Given the description of an element on the screen output the (x, y) to click on. 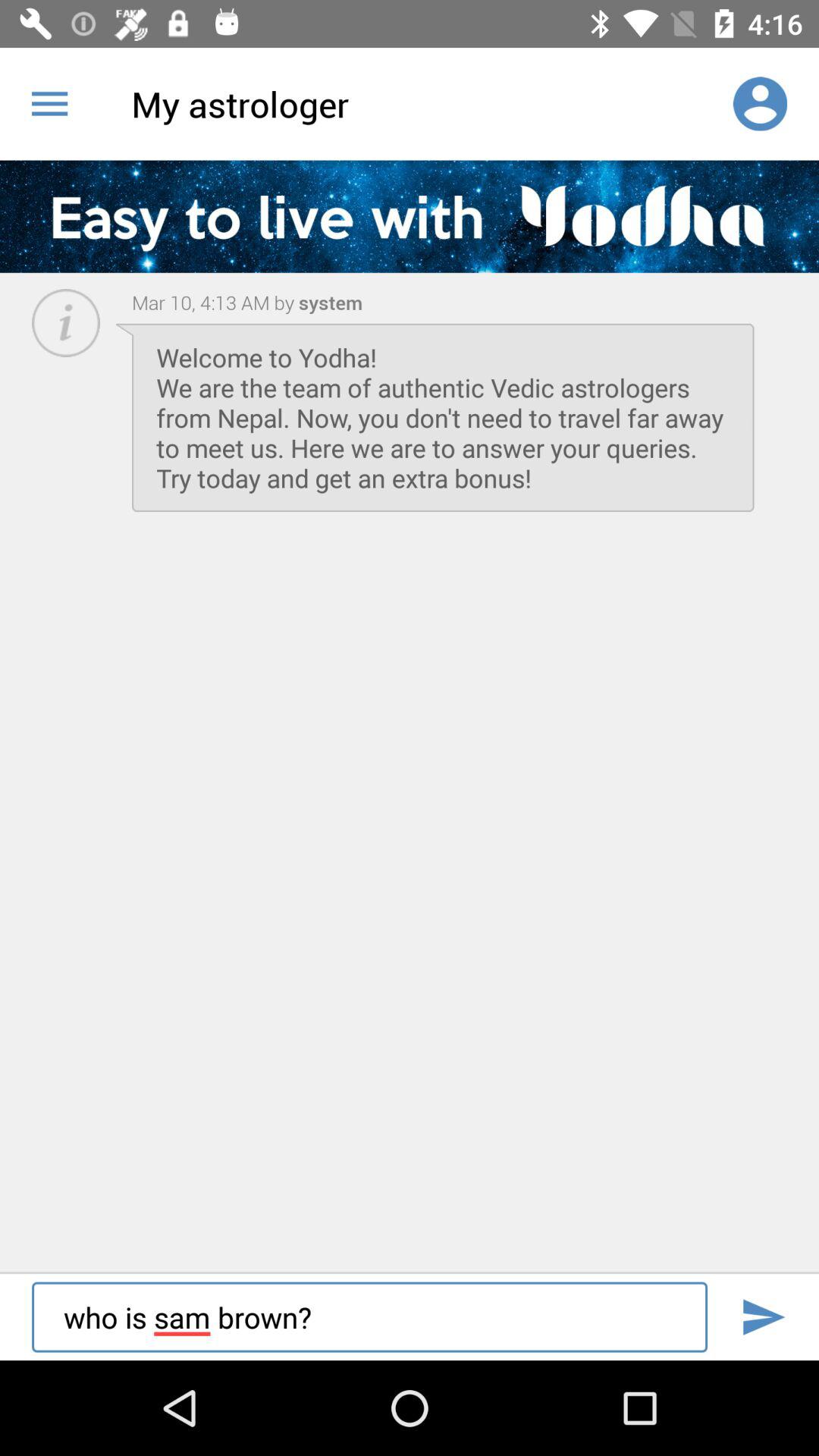
press the icon next to the system (212, 302)
